Given the description of an element on the screen output the (x, y) to click on. 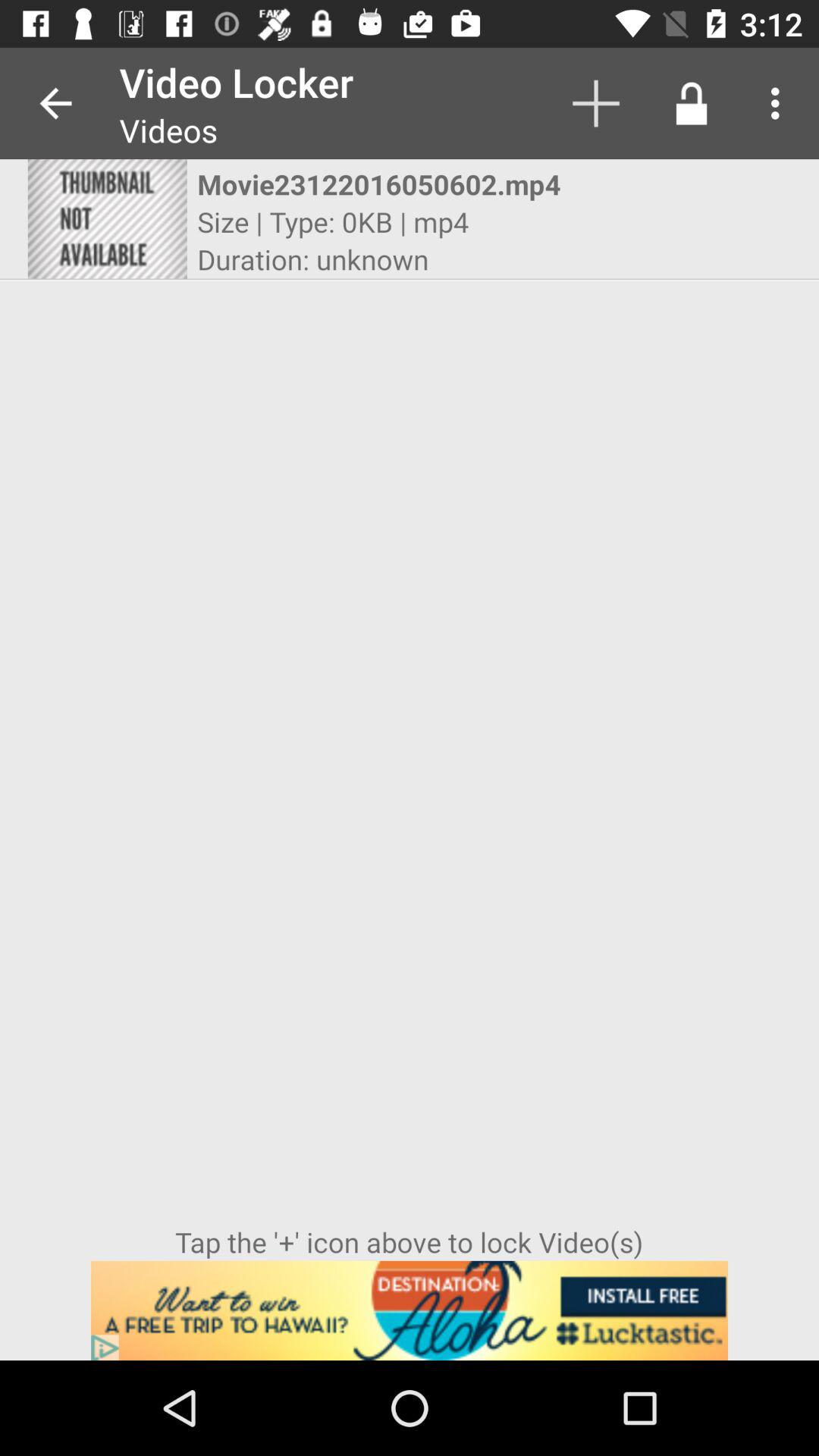
click item above tap the icon item (691, 103)
